Given the description of an element on the screen output the (x, y) to click on. 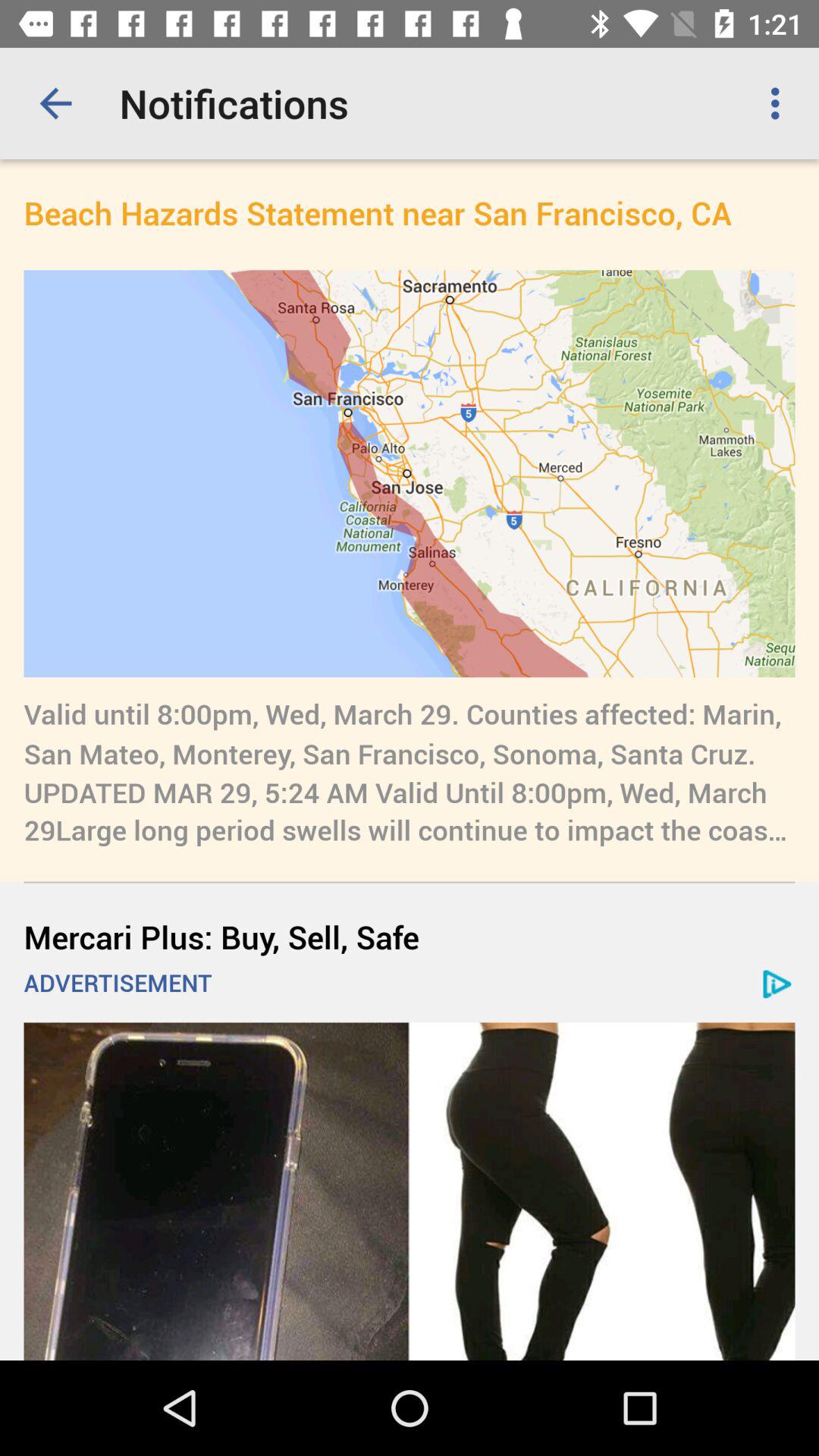
turn on icon below the valid until 8 item (409, 936)
